Given the description of an element on the screen output the (x, y) to click on. 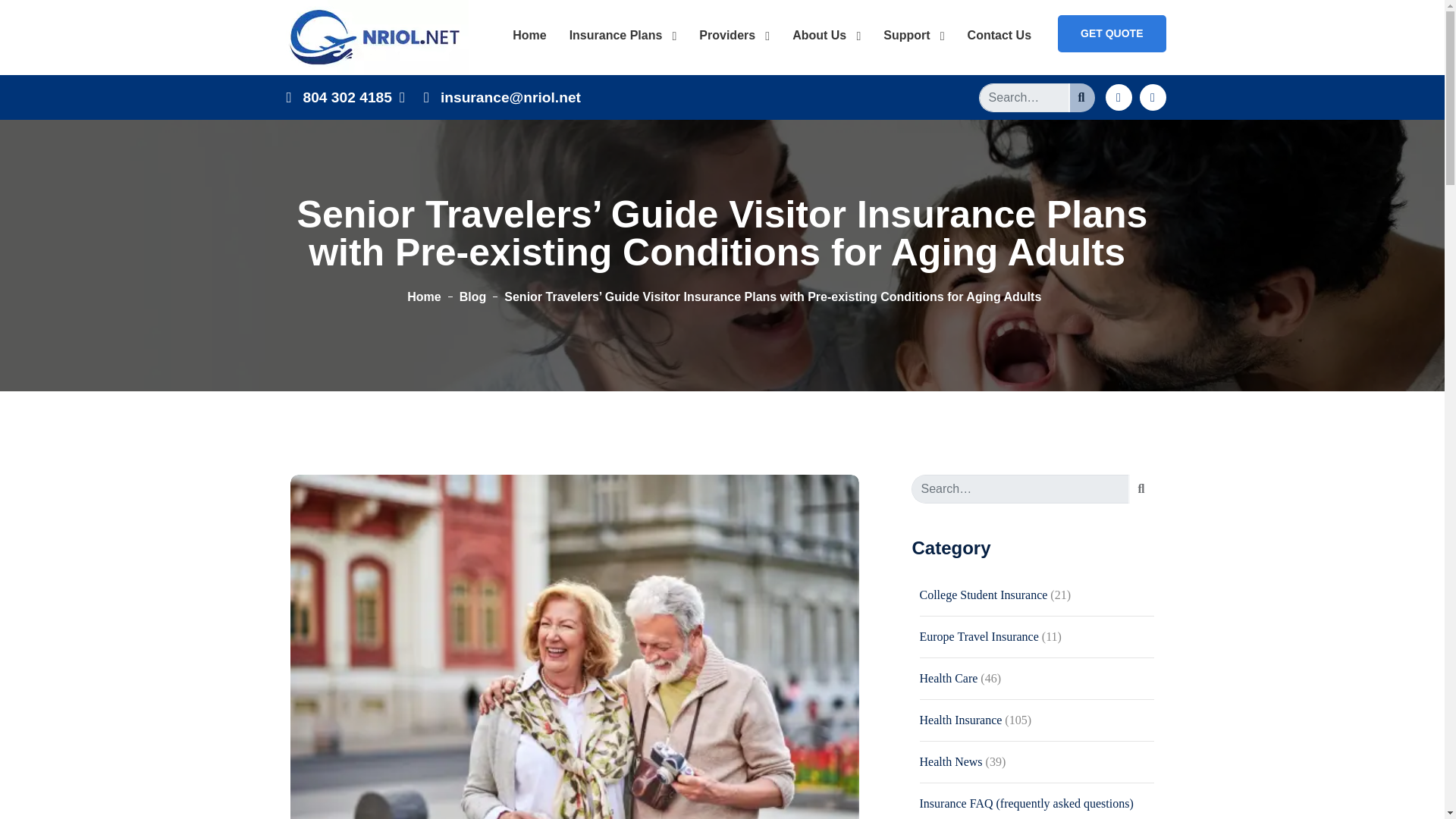
Home (529, 35)
Insurance Plans (623, 35)
